Given the description of an element on the screen output the (x, y) to click on. 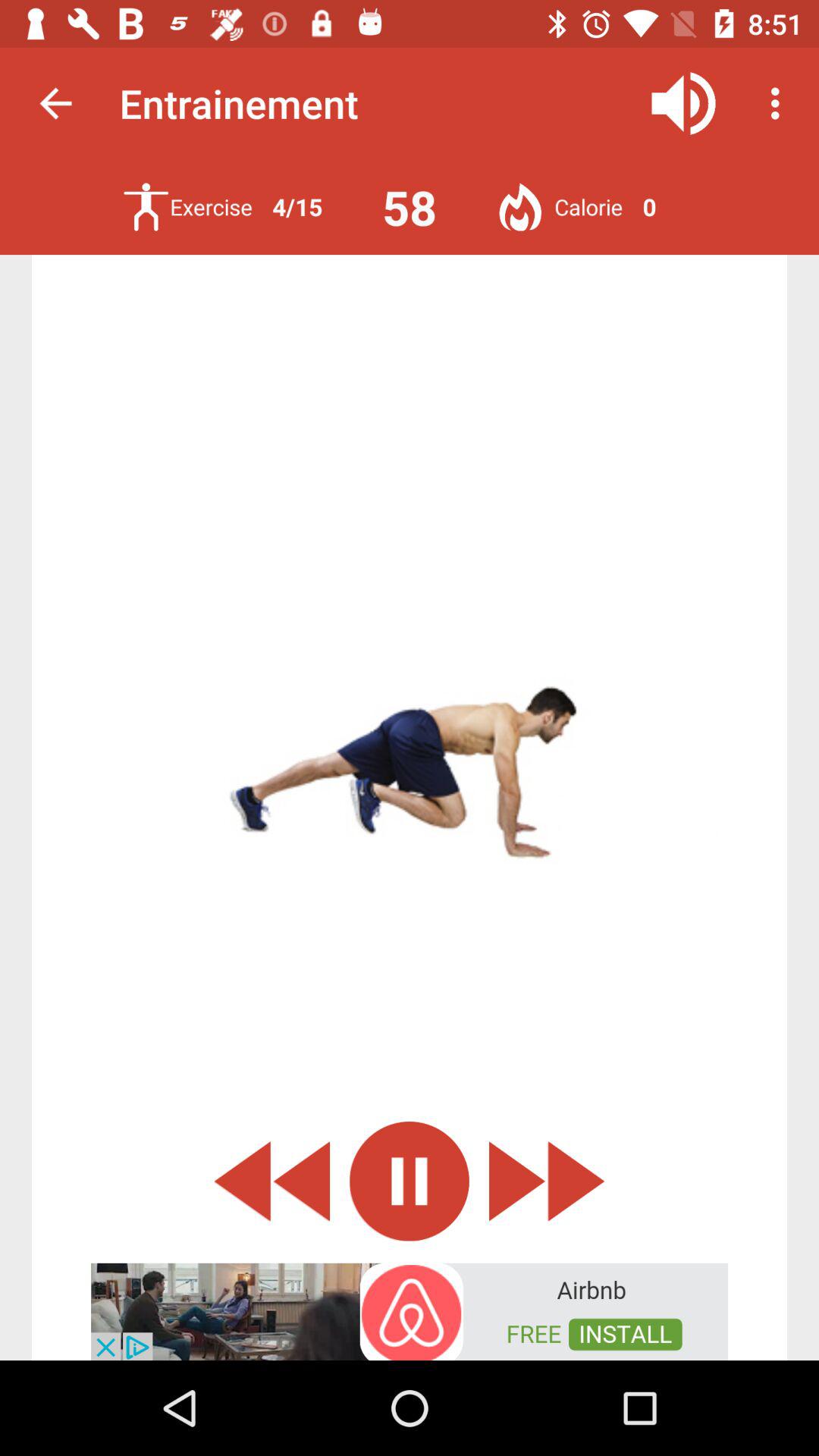
back button (271, 1181)
